Given the description of an element on the screen output the (x, y) to click on. 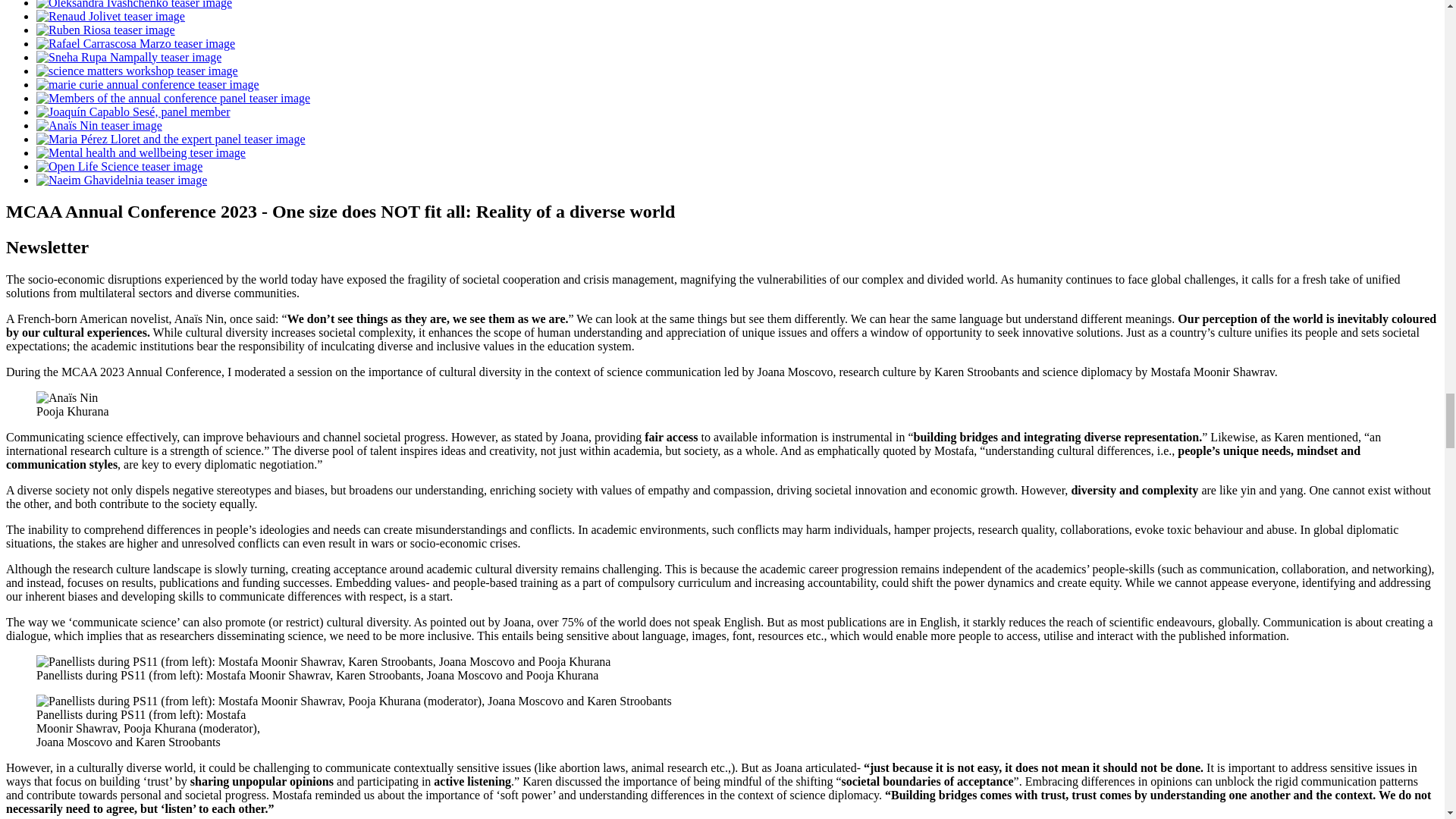
Mental health and wellbeing teser image (141, 152)
Members of the annual conference panel teaser image (173, 97)
Naeim Ghavidelnia teaser image (121, 179)
Open Life Science teaser image (119, 165)
Renaud Jolivet teaser image (110, 15)
Rafael Carrascosa Marzo teaser image (135, 42)
Sneha Rupa Nampally teaser image (128, 56)
Ruben Riosa teaser image (105, 29)
marie curie annual conference teaser image (147, 83)
Oleksandra Ivashchenko teaser image (133, 4)
science matters workshop teaser image (137, 70)
